Given the description of an element on the screen output the (x, y) to click on. 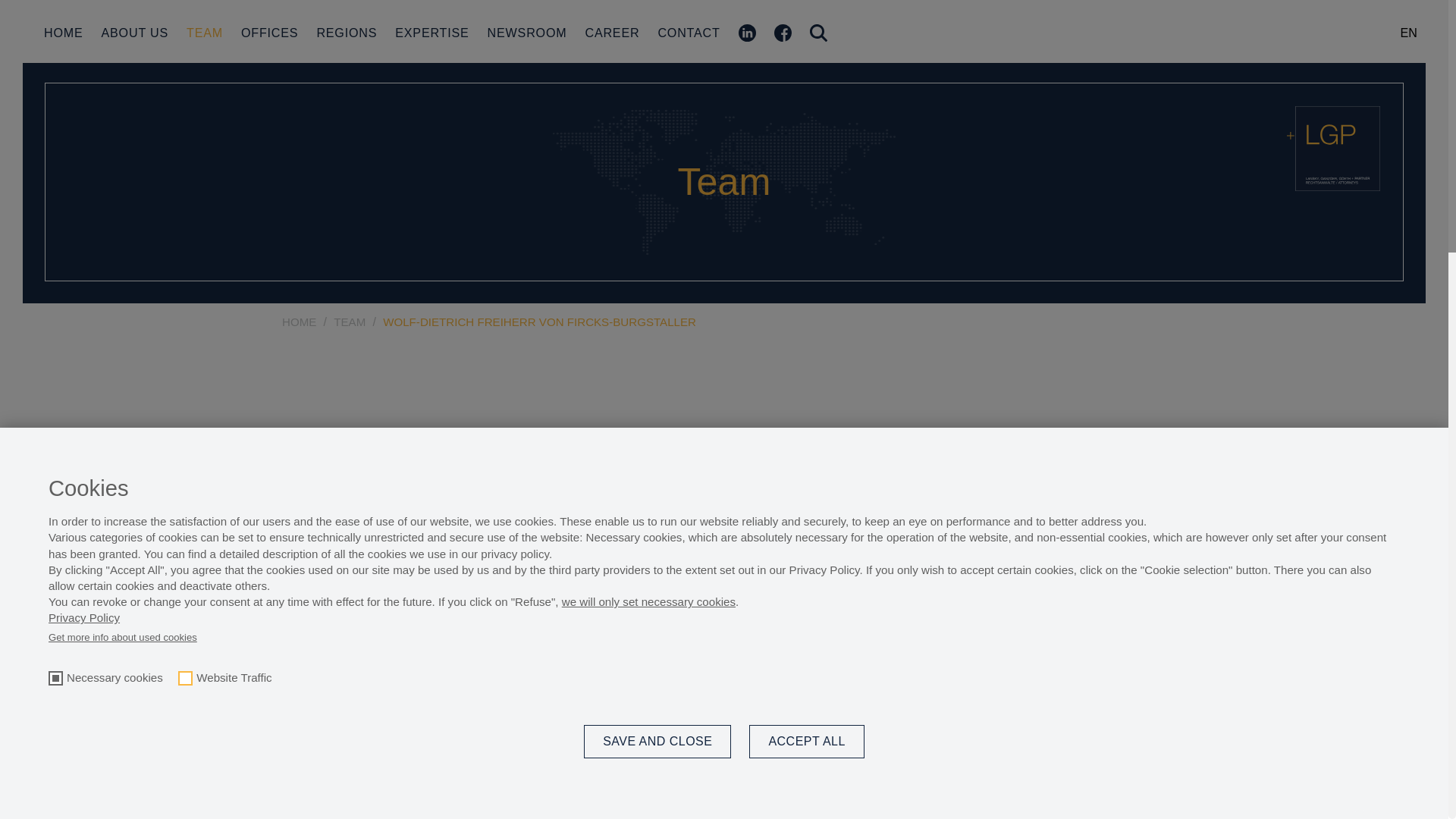
TEAM (204, 32)
HOME (62, 32)
EXPERTISE (431, 32)
ABOUT US (134, 32)
REGIONS (346, 32)
Wolf-Dietrich Freiherr von Fircks-Burgstaller (943, 748)
OFFICES (269, 32)
